Given the description of an element on the screen output the (x, y) to click on. 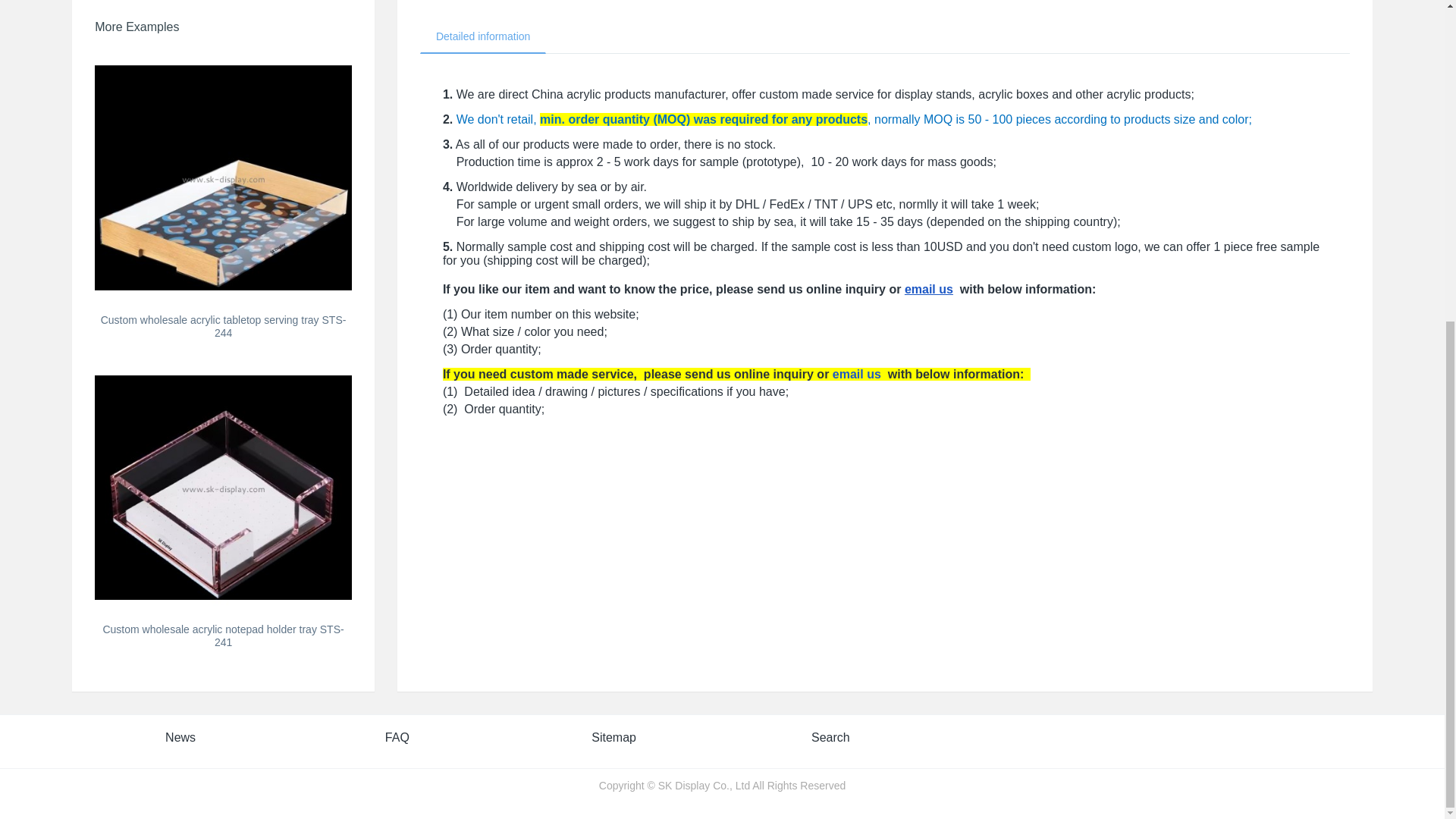
email us (928, 288)
email us (856, 373)
Detailed information (483, 36)
